Given the description of an element on the screen output the (x, y) to click on. 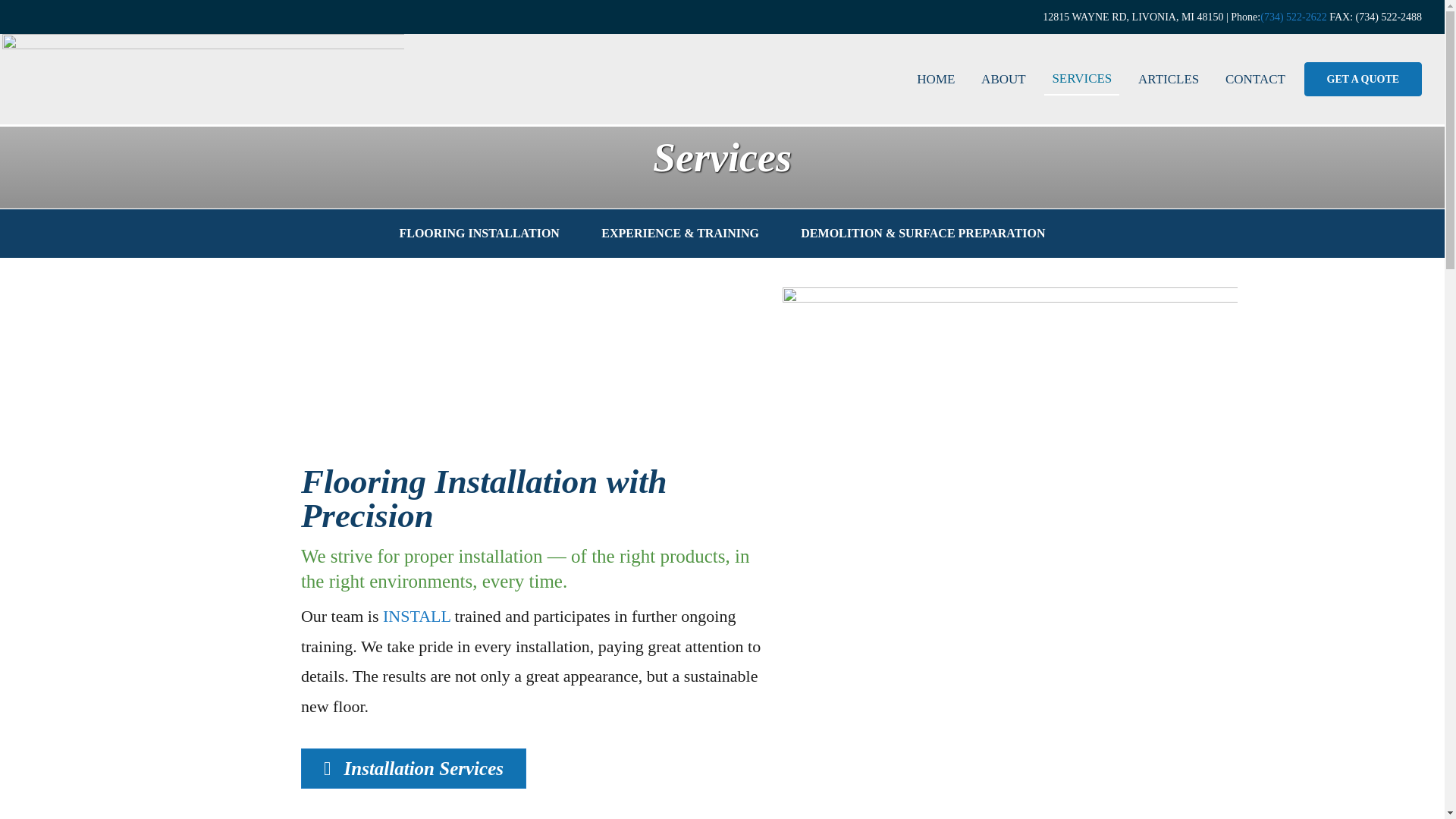
ABOUT (1003, 79)
HOME (935, 79)
GET A QUOTE (1363, 79)
ARTICLES (1169, 79)
Installation Services (413, 767)
FLOORING INSTALLATION (478, 233)
CONTACT (1254, 79)
INSTALL (415, 615)
SERVICES (1081, 79)
